Given the description of an element on the screen output the (x, y) to click on. 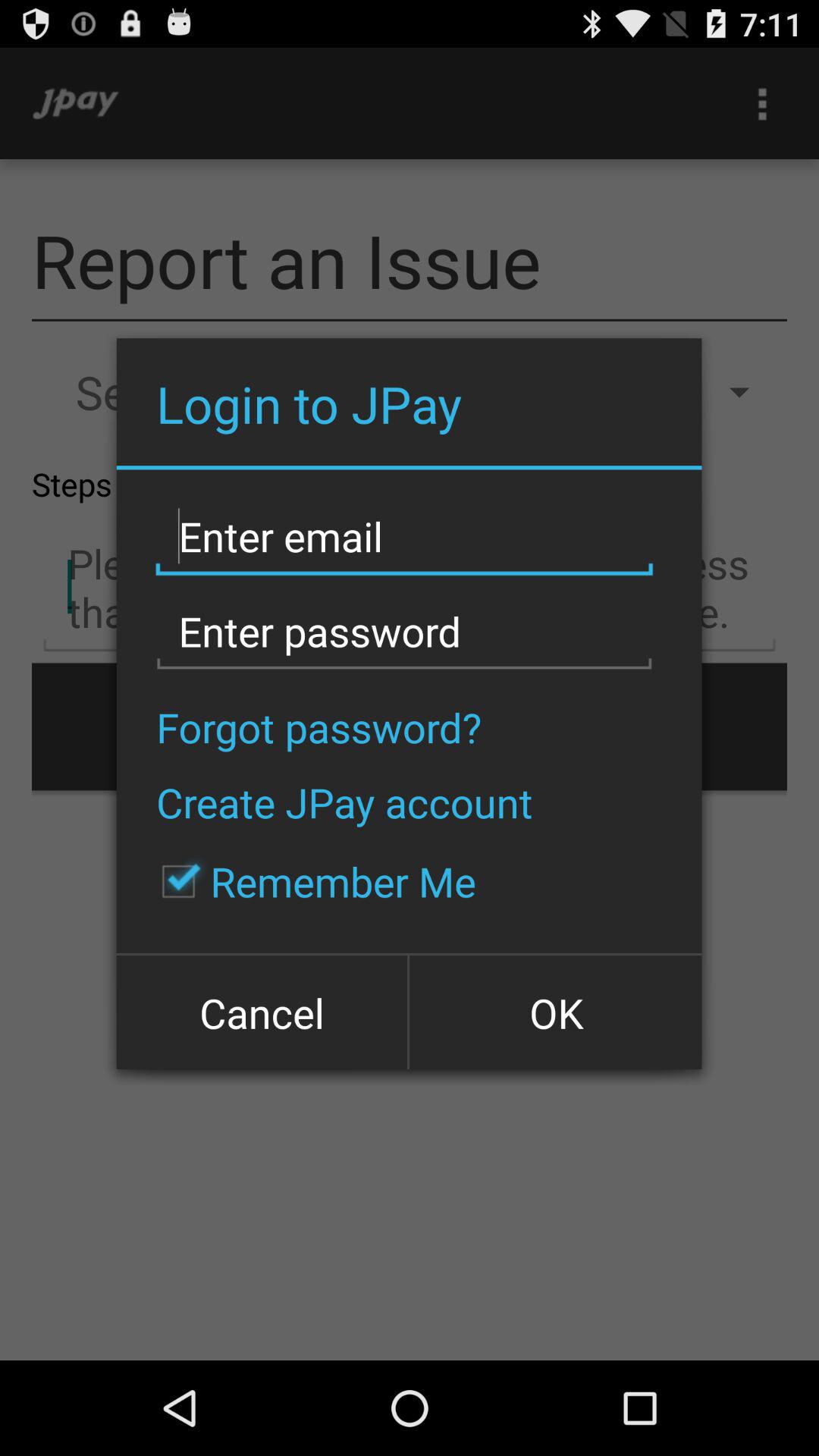
click the item below the create jpay account (311, 881)
